Given the description of an element on the screen output the (x, y) to click on. 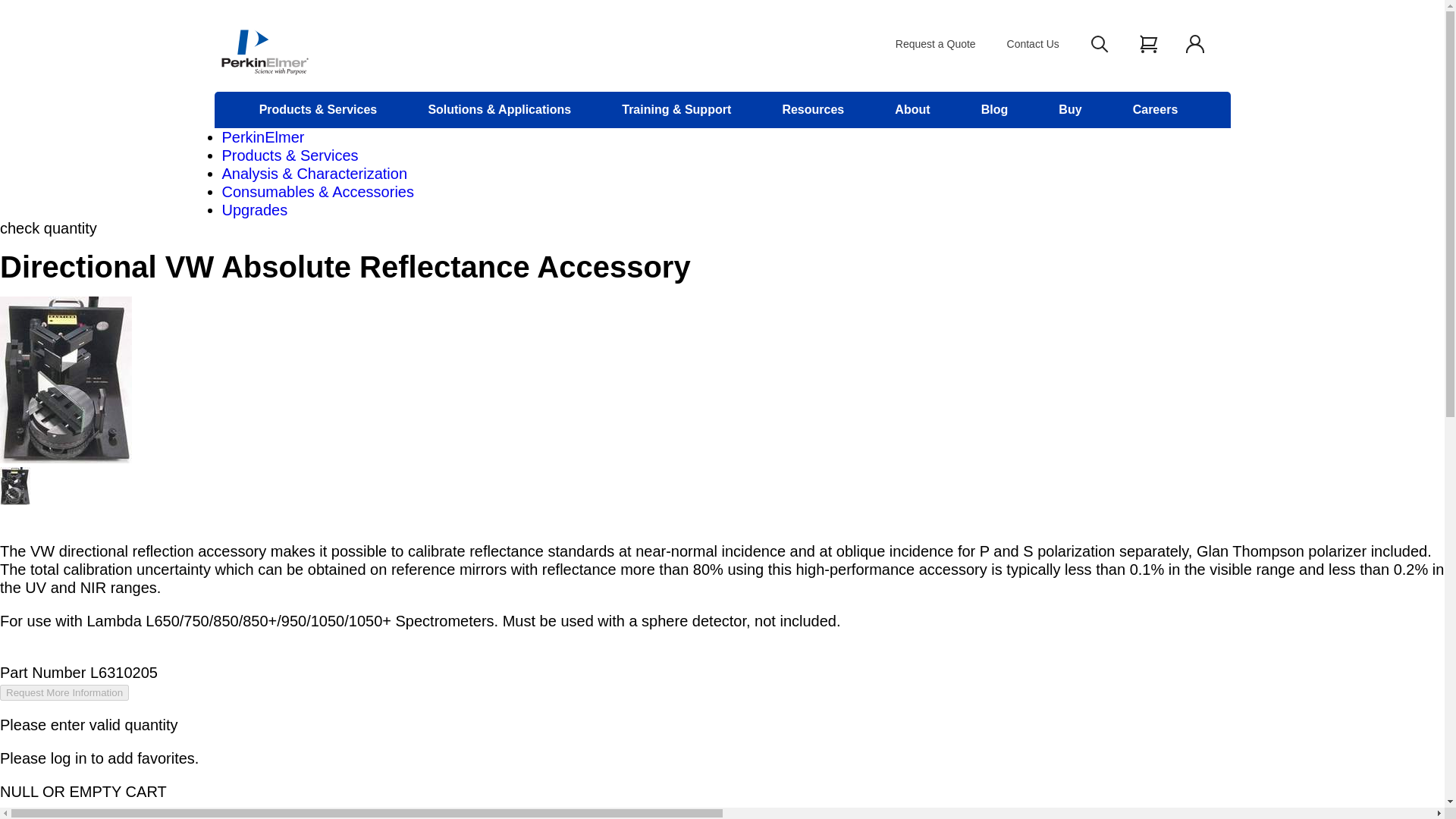
Request a Quote (935, 43)
cart (1149, 36)
account (1195, 44)
cart (1148, 44)
Search (1099, 44)
Contact Us (1033, 43)
